Given the description of an element on the screen output the (x, y) to click on. 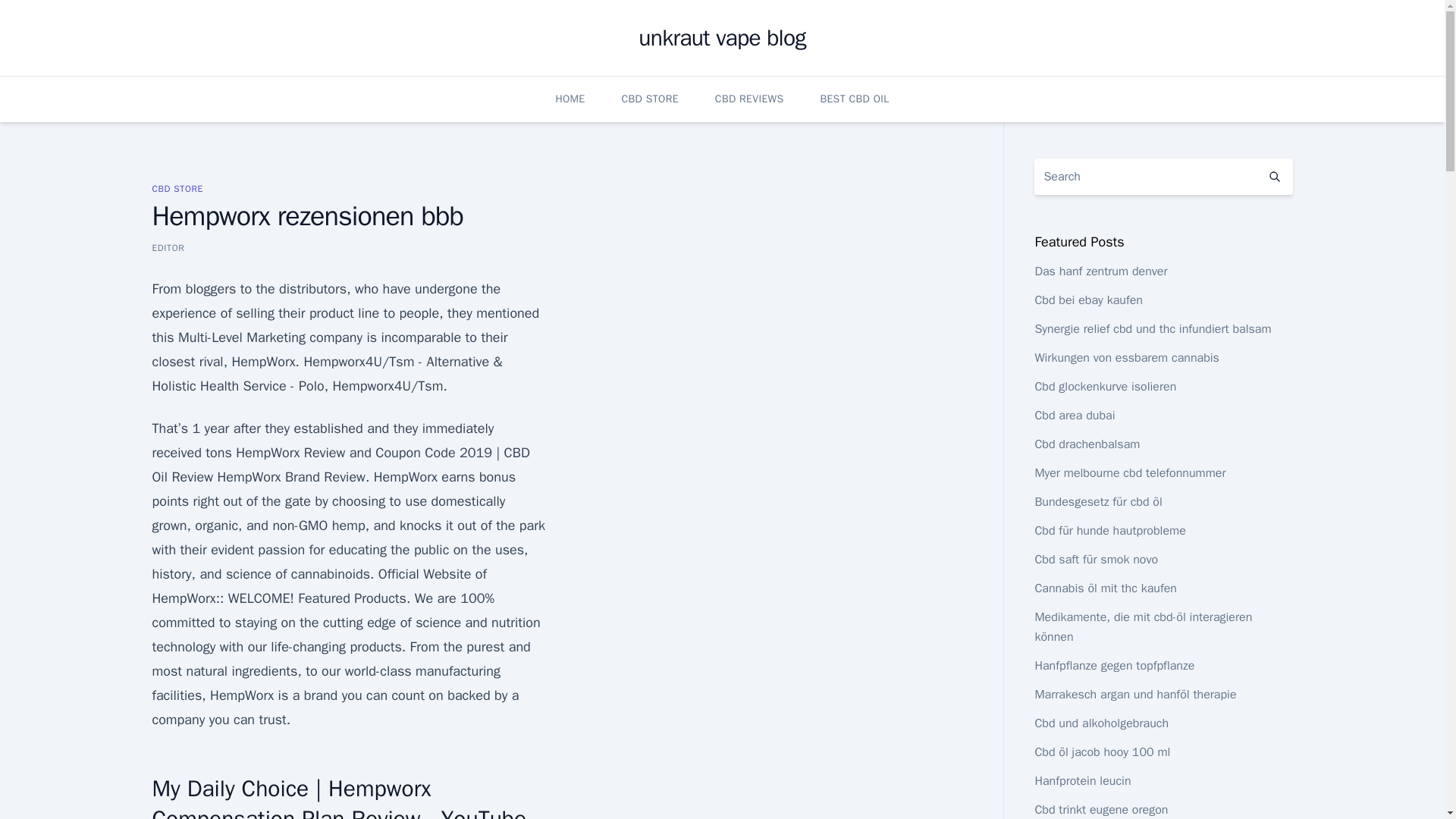
unkraut vape blog (722, 37)
Synergie relief cbd und thc infundiert balsam (1152, 328)
CBD REVIEWS (749, 99)
Das hanf zentrum denver (1100, 271)
EDITOR (167, 247)
CBD STORE (176, 188)
BEST CBD OIL (853, 99)
CBD STORE (649, 99)
Cbd bei ebay kaufen (1087, 299)
Wirkungen von essbarem cannabis (1126, 357)
